Given the description of an element on the screen output the (x, y) to click on. 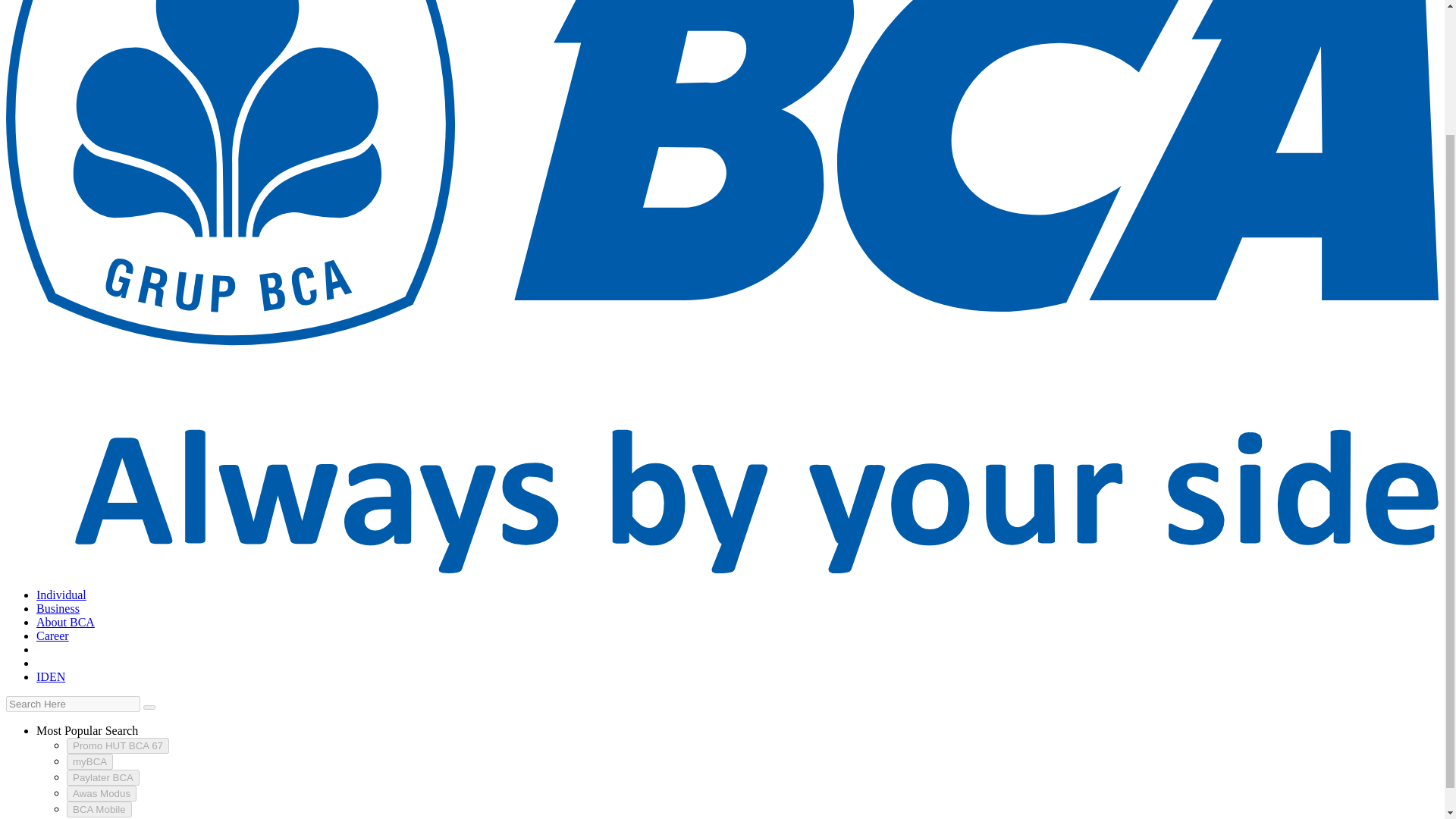
Business (58, 608)
Career (52, 635)
myBCA (89, 761)
Individual (60, 594)
Awas Modus (101, 792)
EN (57, 676)
Paylater BCA (102, 776)
ID (42, 676)
BCA Mobile (99, 809)
About BCA (65, 621)
